Given the description of an element on the screen output the (x, y) to click on. 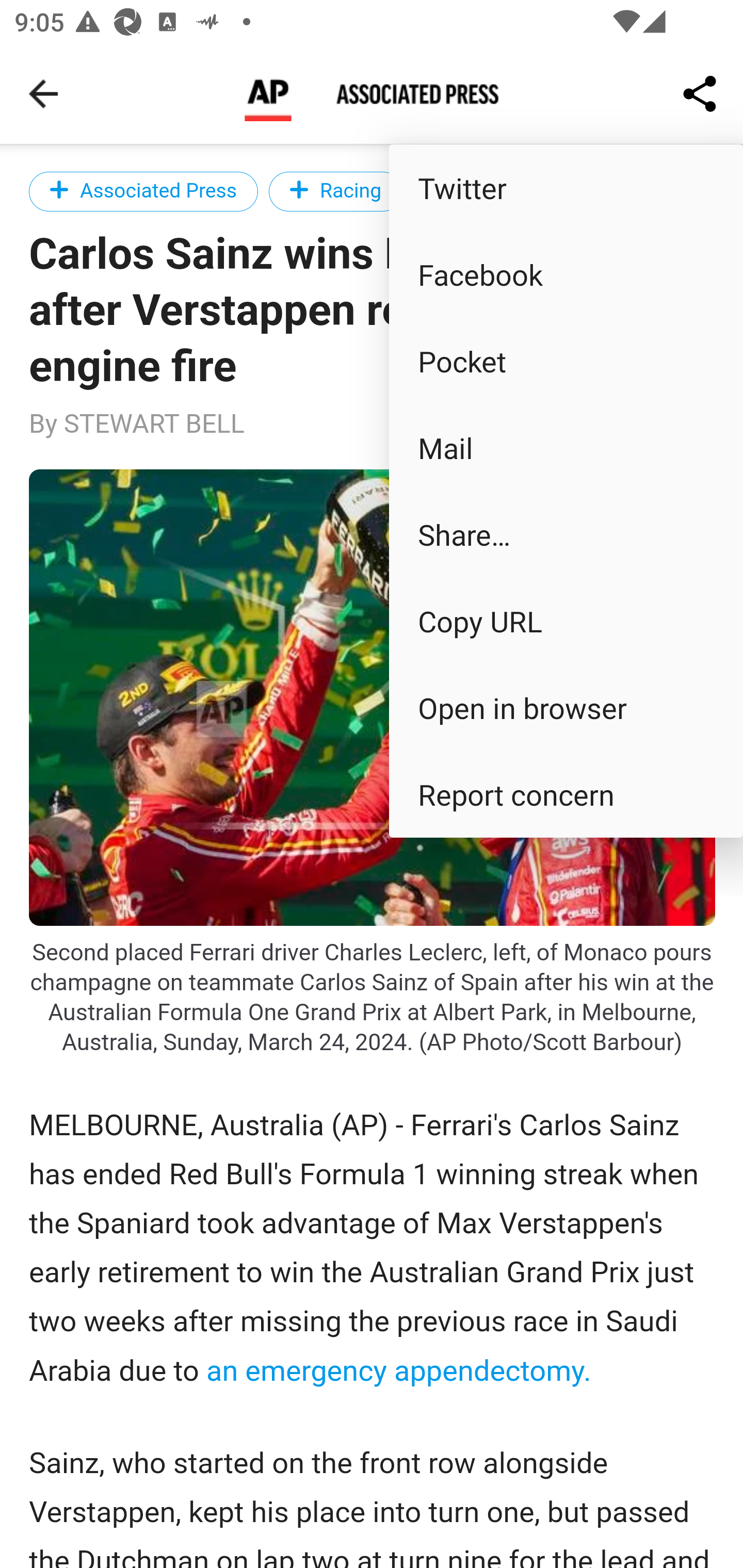
Twitter (566, 187)
Facebook (566, 274)
Pocket (566, 361)
Mail (566, 447)
Share… (566, 533)
Copy URL (566, 620)
Open in browser (566, 707)
Report concern (566, 794)
